Given the description of an element on the screen output the (x, y) to click on. 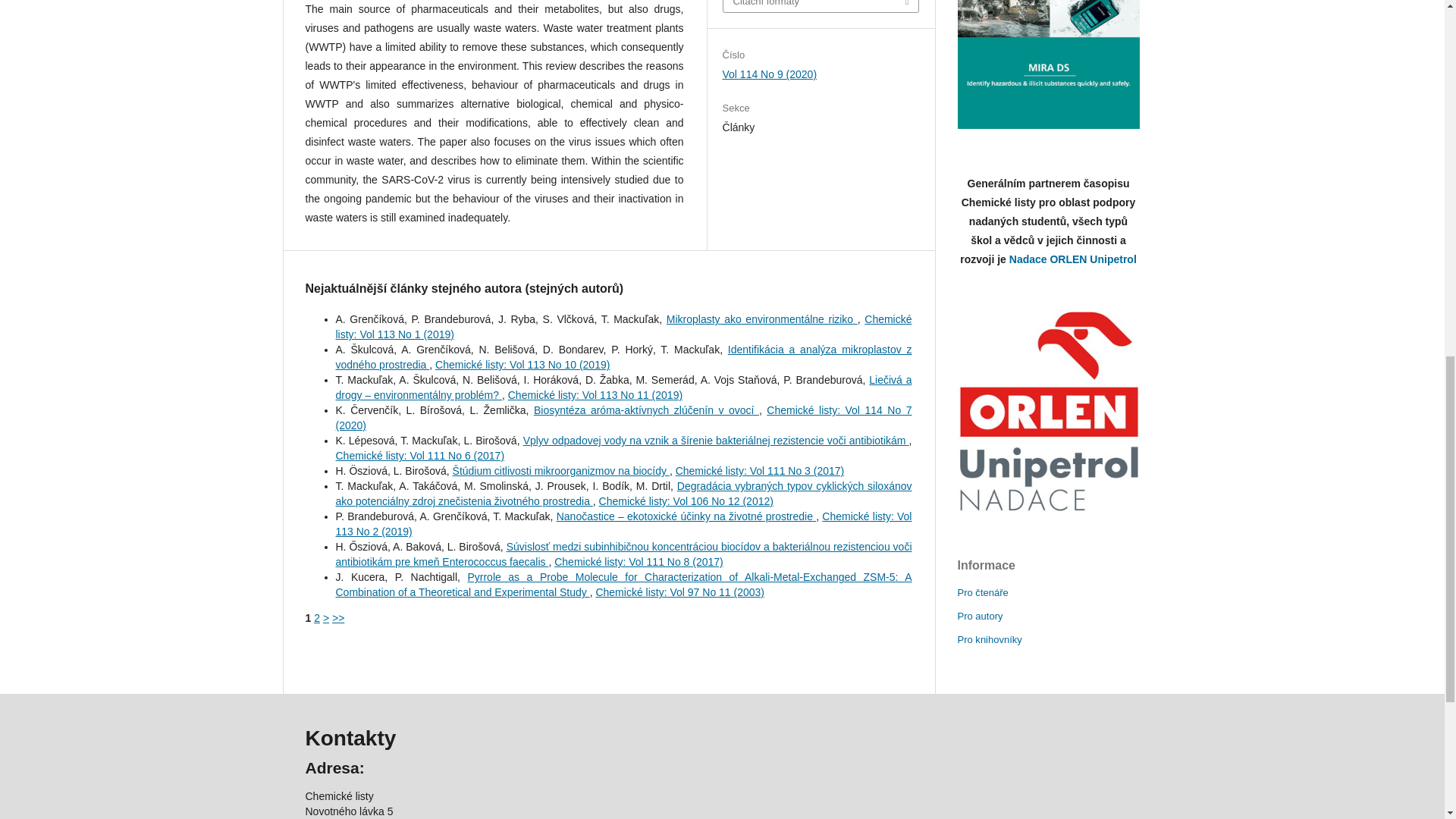
Nadace ORLEN Unipetrol (1073, 259)
Nadace ORLEN Unipetrol (1047, 410)
